Given the description of an element on the screen output the (x, y) to click on. 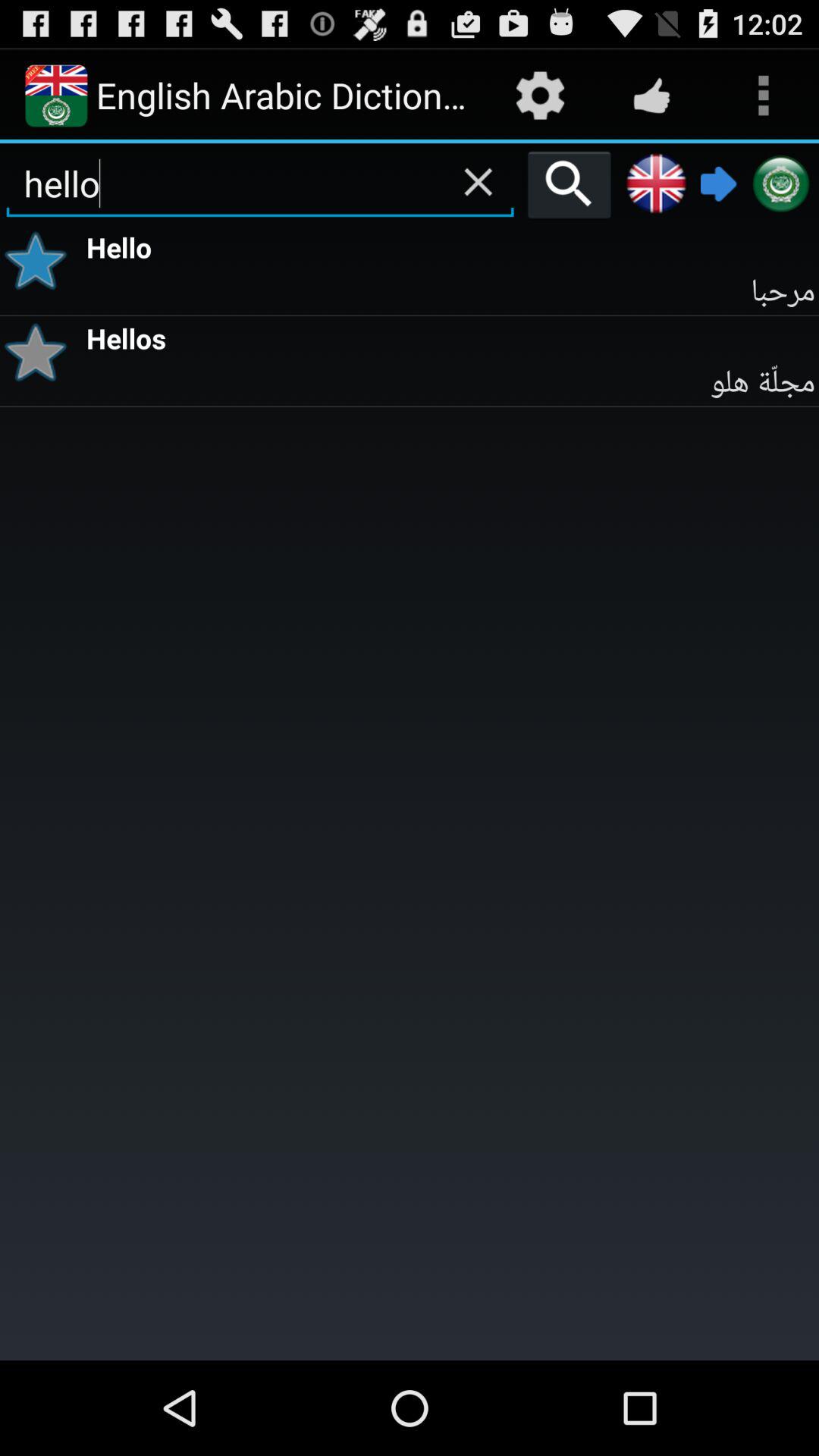
erase your search (478, 181)
